Given the description of an element on the screen output the (x, y) to click on. 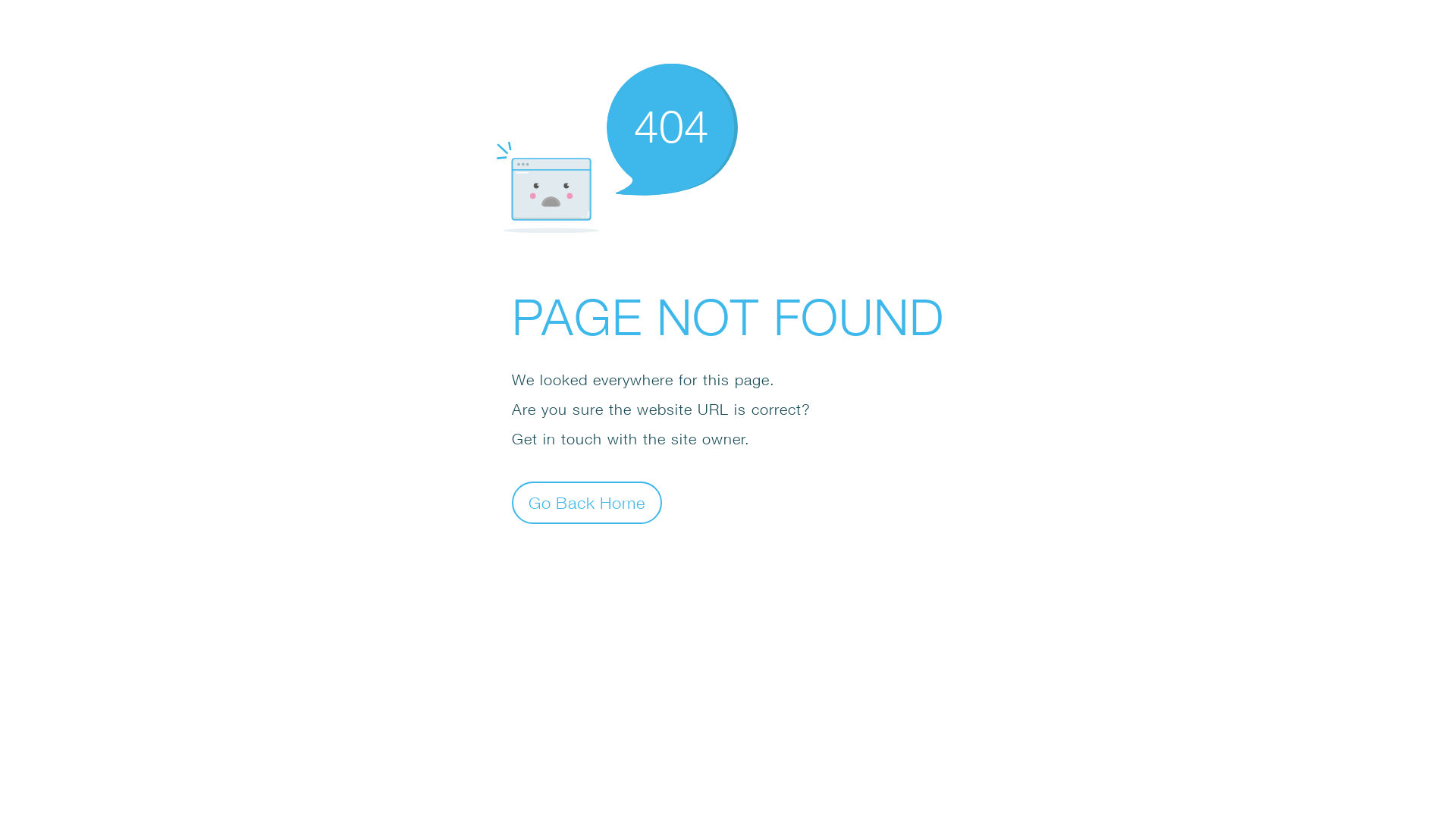
Go Back Home Element type: text (586, 502)
